Given the description of an element on the screen output the (x, y) to click on. 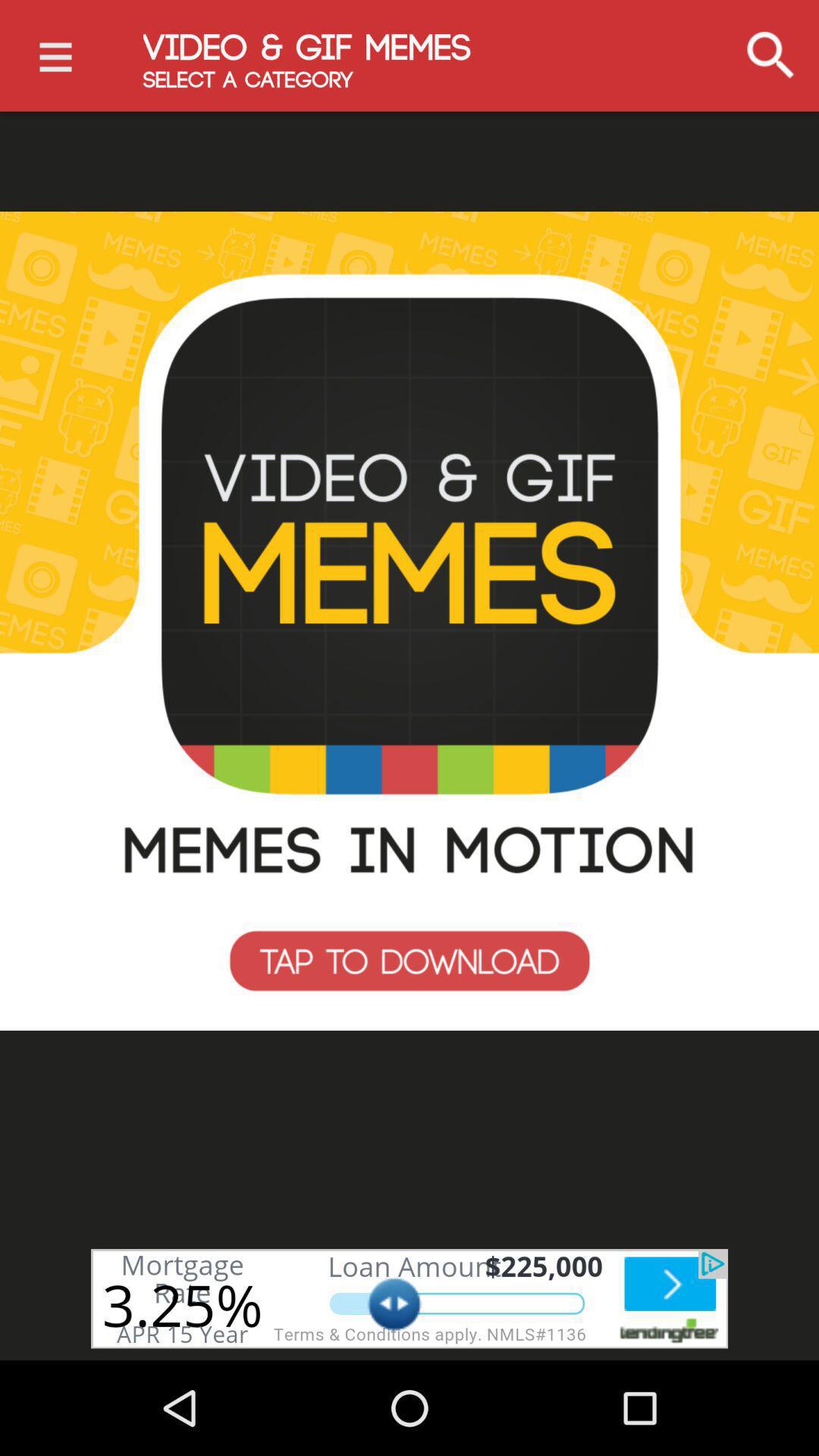
tap to download (409, 620)
